Given the description of an element on the screen output the (x, y) to click on. 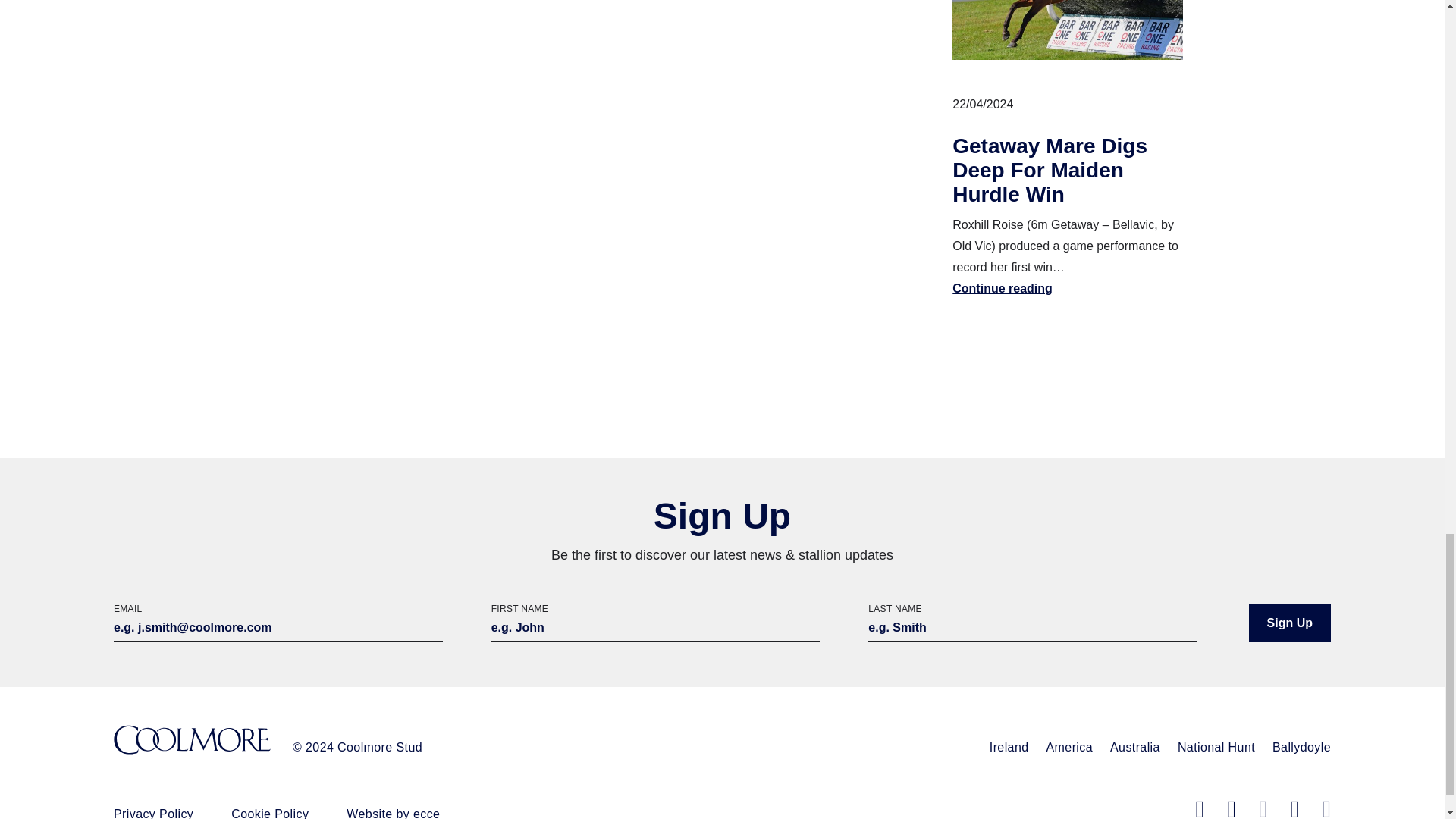
Coolmore (191, 740)
Privacy Policy (153, 813)
Cookie Policy (269, 813)
Australia (1134, 747)
Website by ecce (392, 813)
Sign Up (1289, 623)
Ireland (1009, 747)
America (1069, 747)
National Hunt (1216, 747)
Ballydoyle (1301, 747)
